Given the description of an element on the screen output the (x, y) to click on. 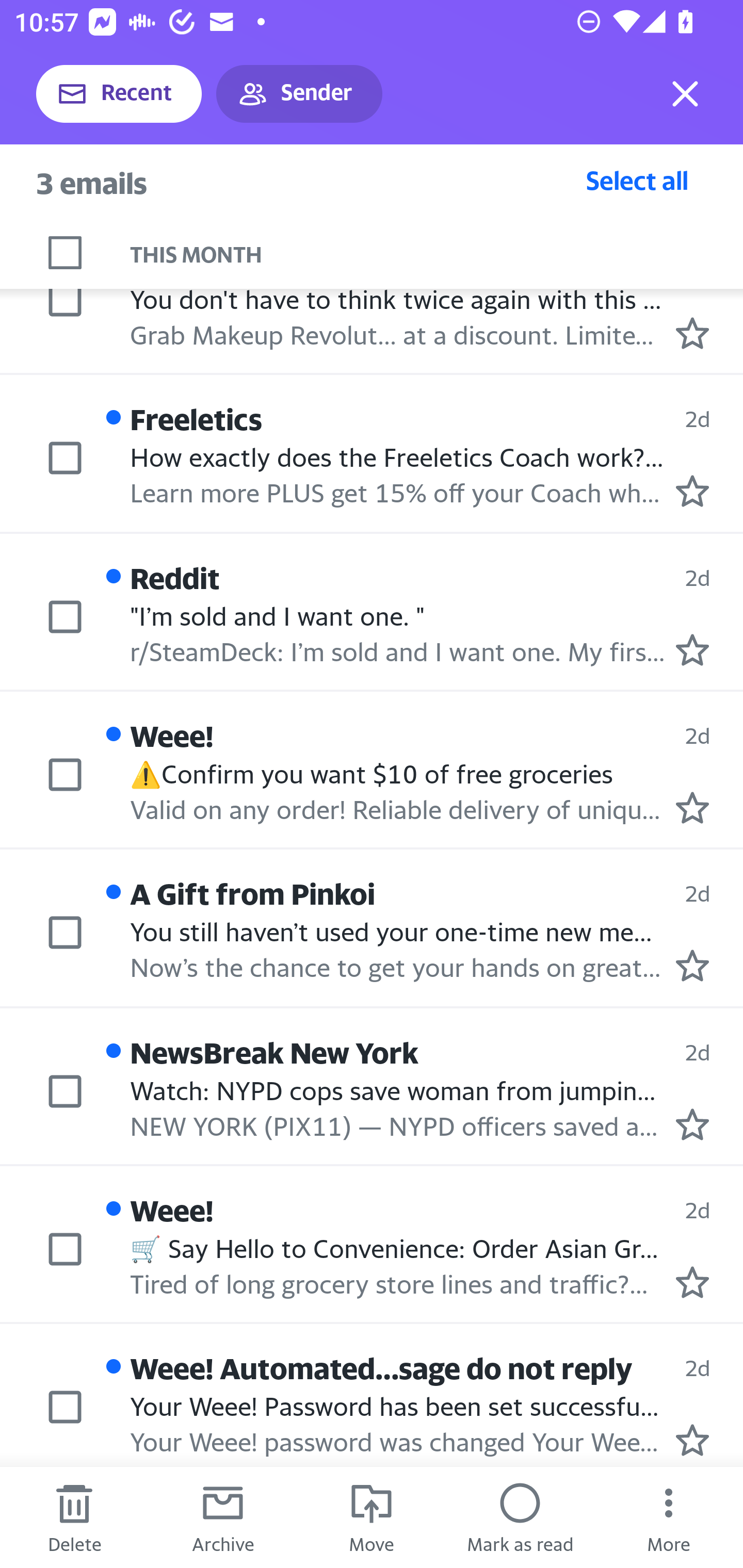
Sender (299, 93)
Exit selection mode (684, 93)
Select all (637, 180)
Mark as starred. (692, 333)
Mark as starred. (692, 491)
Mark as starred. (692, 649)
Mark as starred. (692, 808)
Mark as starred. (692, 965)
Mark as starred. (692, 1125)
Mark as starred. (692, 1281)
Mark as starred. (692, 1440)
Delete (74, 1517)
Archive (222, 1517)
Move (371, 1517)
Mark as read (519, 1517)
More (668, 1517)
